Given the description of an element on the screen output the (x, y) to click on. 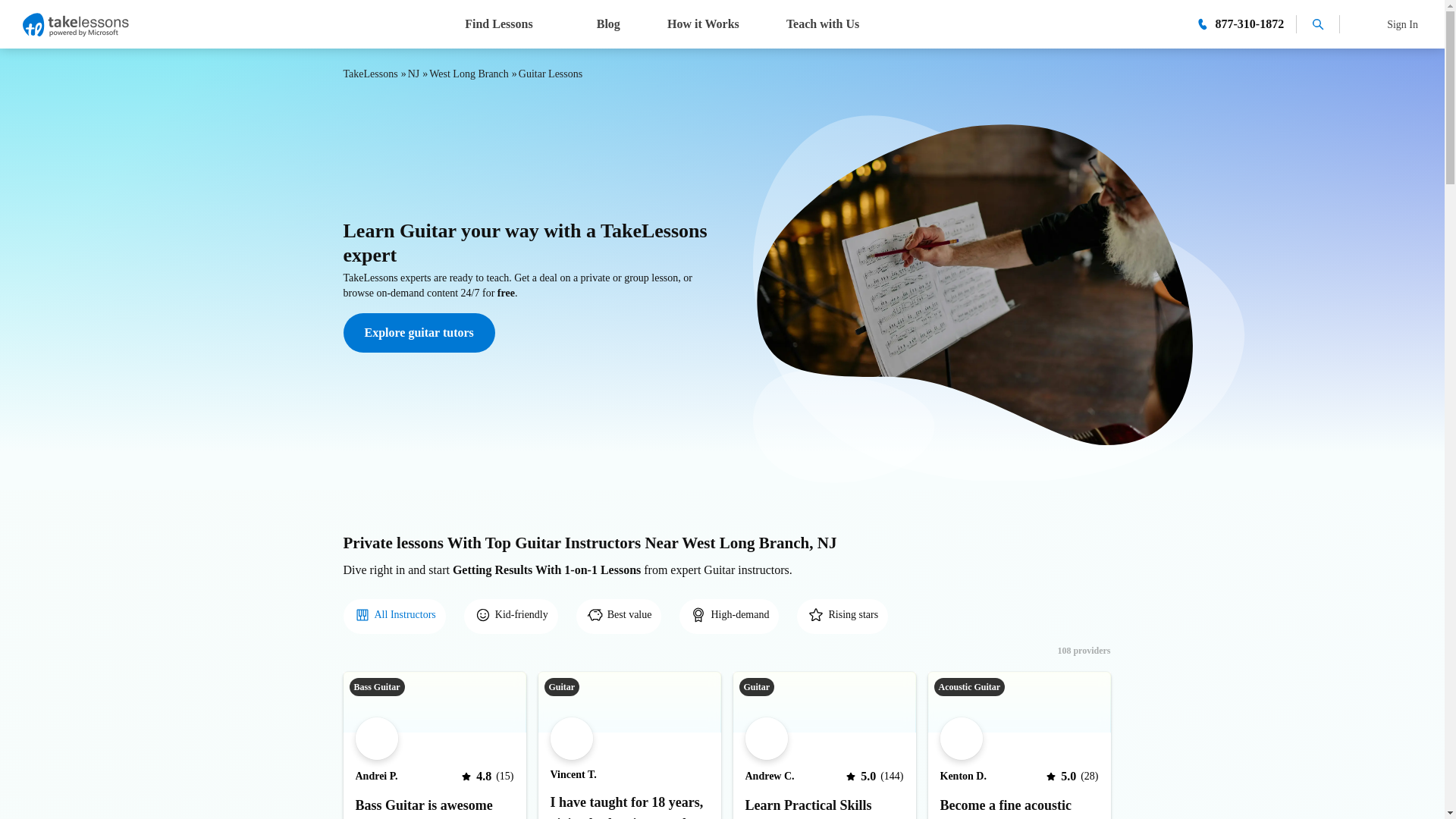
How it Works (702, 22)
Teach with Us (822, 22)
Best value (619, 615)
Find Lessons (506, 22)
Andrei P. (376, 776)
Andrew C. (768, 776)
Best value (619, 616)
High-demand (728, 615)
High-demand (728, 616)
Rising stars (841, 616)
All Instructors (394, 616)
West Long Branch (468, 73)
Guitar Lessons (550, 73)
